Given the description of an element on the screen output the (x, y) to click on. 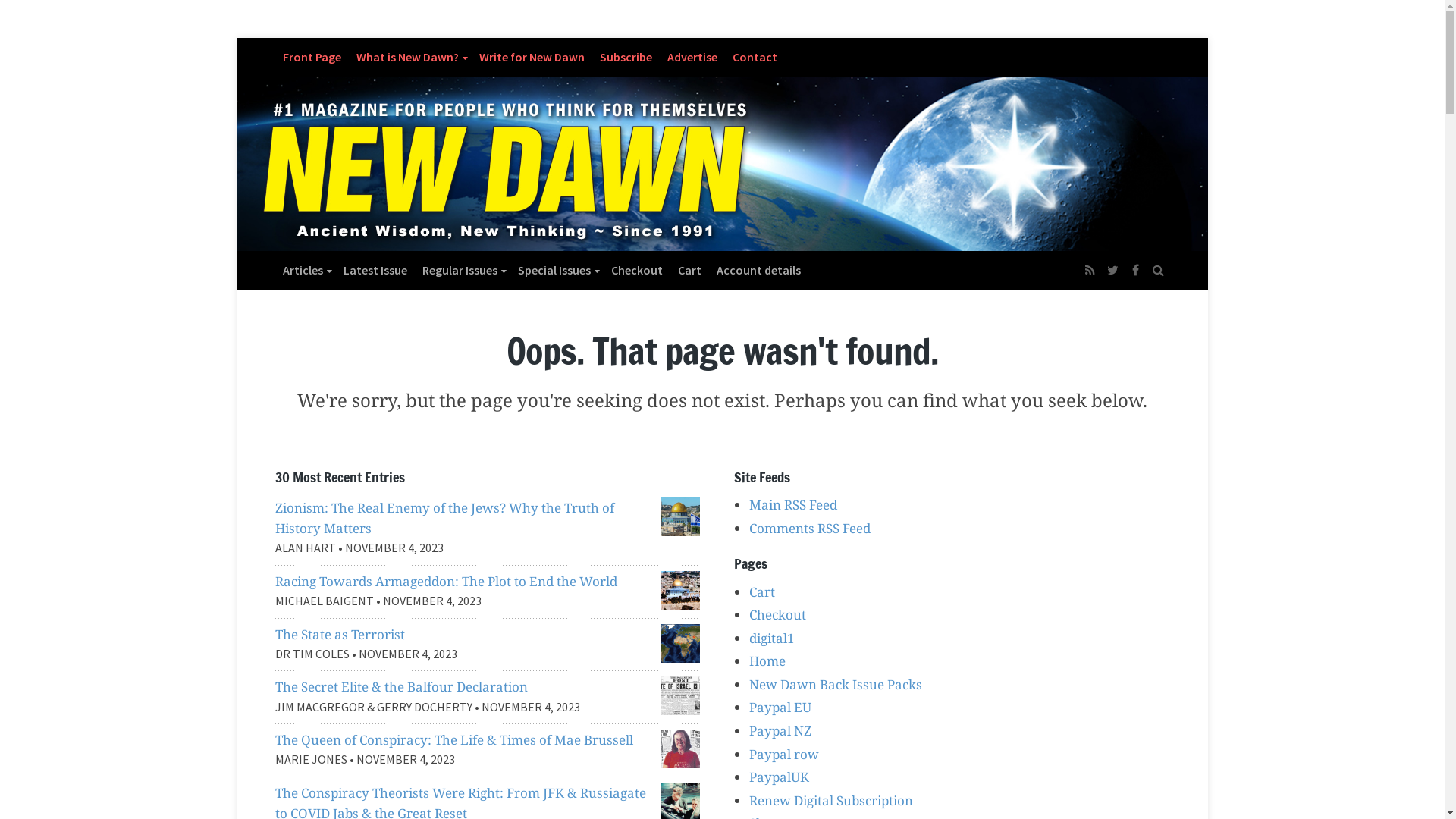
RSS Feed Element type: hover (1089, 269)
Cart Element type: text (762, 590)
Comments RSS Feed Element type: text (809, 527)
PaypalUK Element type: text (779, 776)
Articles Element type: text (304, 269)
Advertise Element type: text (691, 56)
Twitter Element type: hover (1112, 269)
The State as Terrorist Element type: text (339, 634)
digital1 Element type: text (771, 637)
Checkout Element type: text (777, 614)
New Dawn Back Issue Packs Element type: text (835, 684)
Latest Issue Element type: text (374, 269)
Racing Towards Armageddon: The Plot to End the World Element type: text (445, 580)
Contact Element type: text (754, 56)
What is New Dawn? Element type: text (409, 56)
Write for New Dawn Element type: text (531, 56)
Cart Element type: text (689, 269)
Paypal row Element type: text (784, 753)
The Queen of Conspiracy: The Life & Times of Mae Brussell Element type: text (453, 739)
Subscribe Element type: text (624, 56)
Paypal NZ Element type: text (780, 730)
Front Page Element type: text (311, 56)
Display Search Form Element type: hover (1157, 262)
Regular Issues Element type: text (461, 269)
Special Issues Element type: text (555, 269)
The Secret Elite & the Balfour Declaration Element type: text (400, 686)
Paypal EU Element type: text (780, 706)
Renew Digital Subscription Element type: text (831, 800)
Home Element type: text (767, 660)
Checkout Element type: text (636, 269)
Main RSS Feed Element type: text (793, 504)
Facebook Element type: hover (1134, 269)
Account details Element type: text (757, 269)
